Given the description of an element on the screen output the (x, y) to click on. 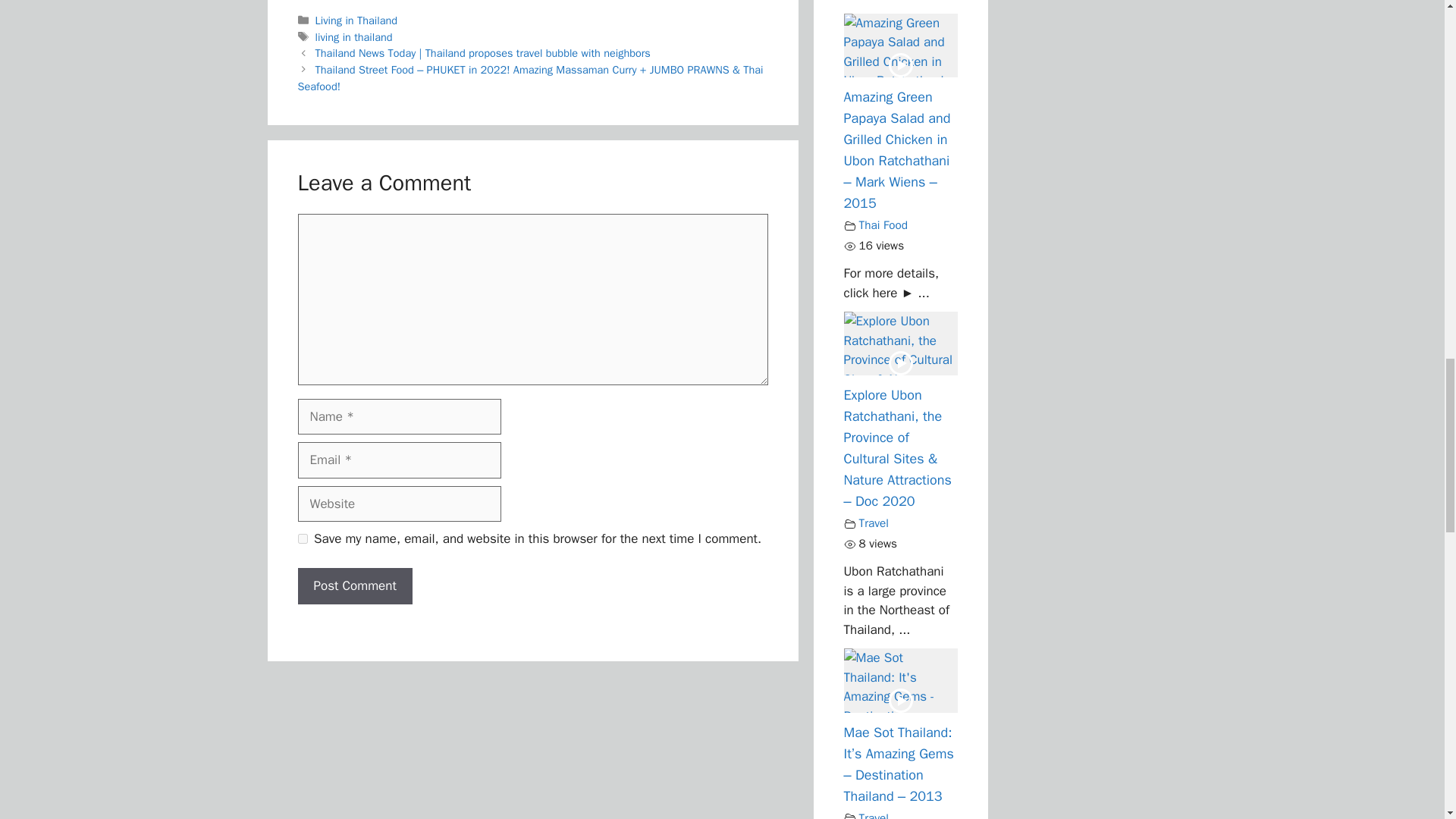
Living in Thailand (356, 20)
yes (302, 538)
Post Comment (354, 586)
living in thailand (354, 37)
Post Comment (354, 586)
